Given the description of an element on the screen output the (x, y) to click on. 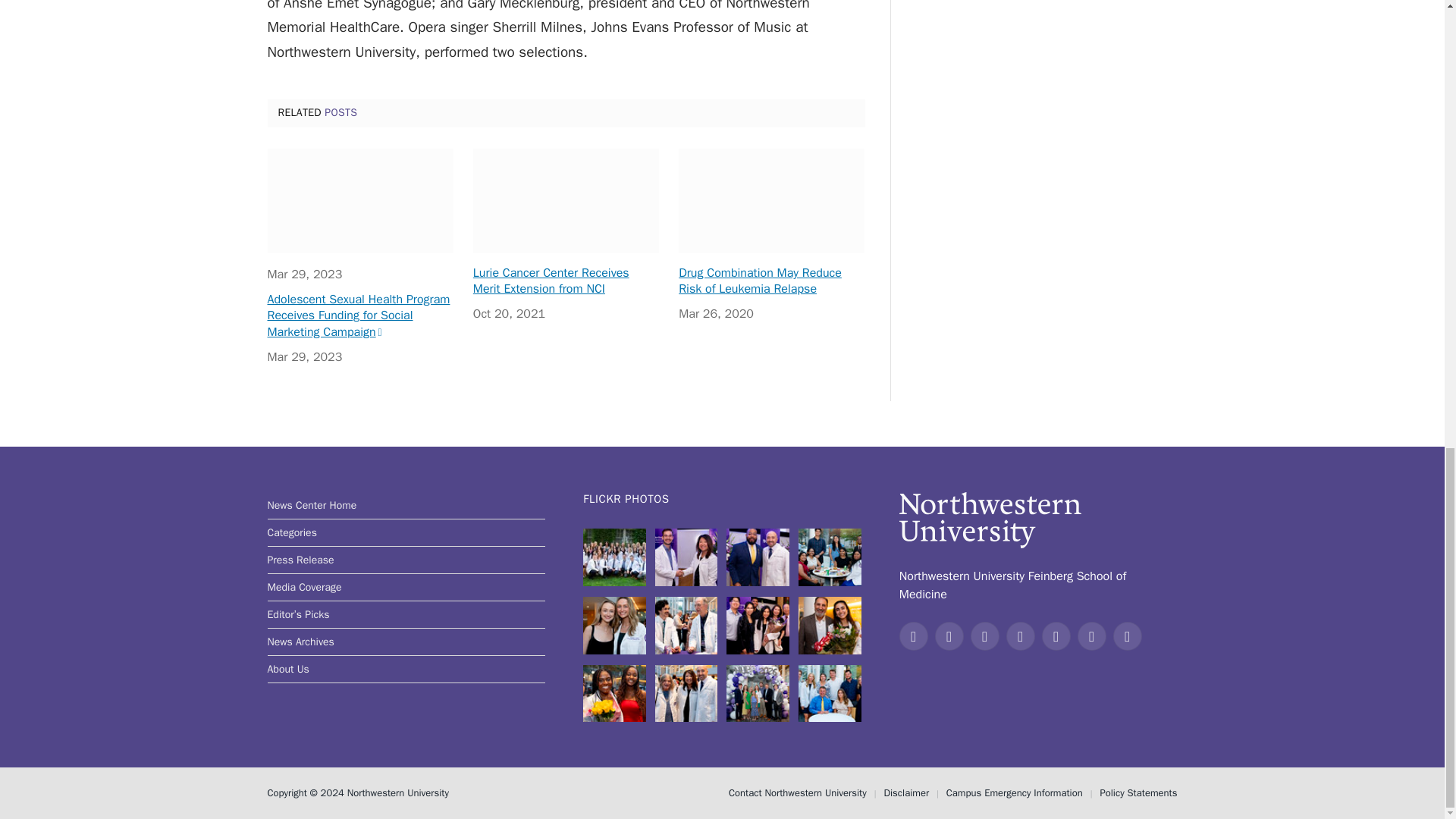
Lurie Cancer Center Receives Merit Extension from NCI (566, 200)
Drug Combination May Reduce Risk of Leukemia Relapse (771, 200)
